Given the description of an element on the screen output the (x, y) to click on. 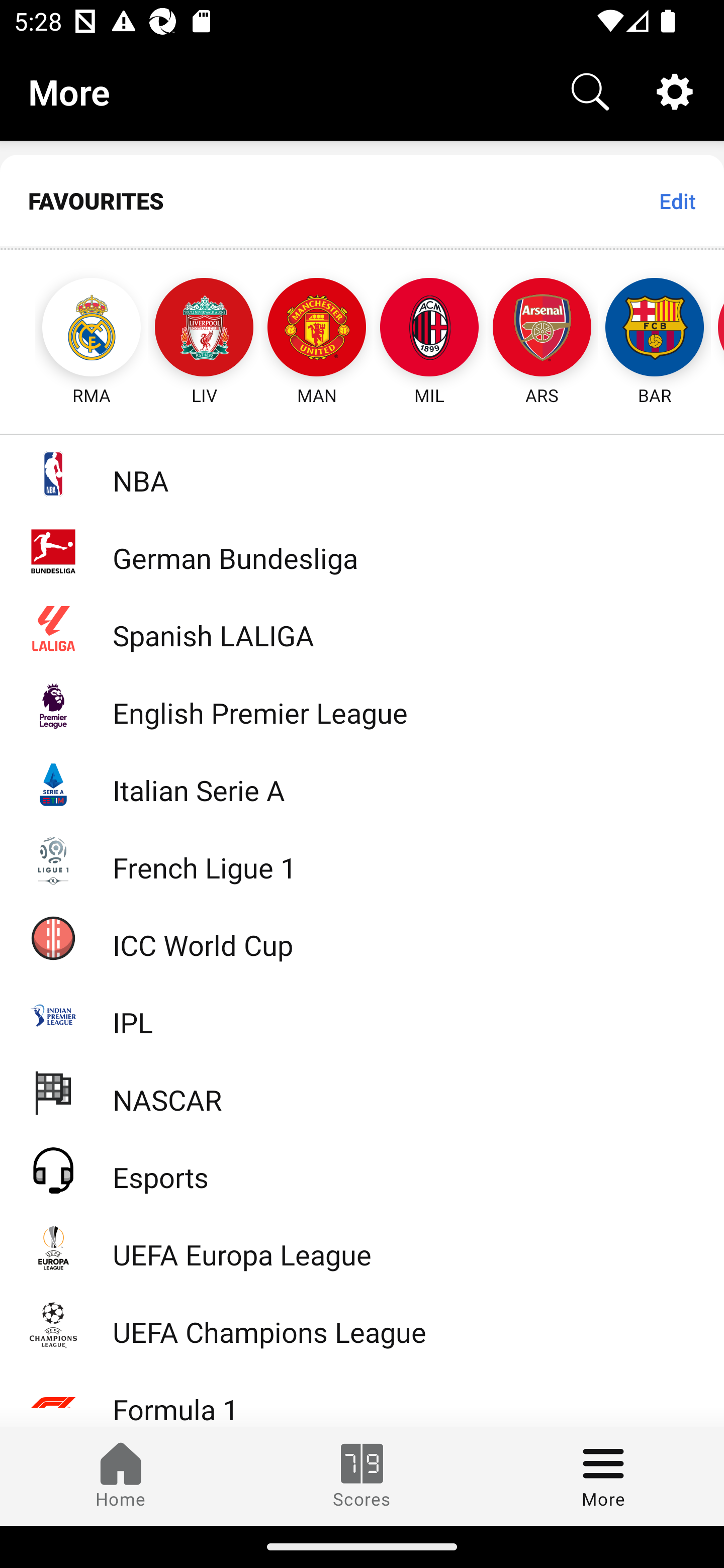
Search (590, 90)
Settings (674, 90)
Edit (676, 200)
RMA Real Madrid (73, 328)
LIV Liverpool (203, 328)
MAN Manchester United (316, 328)
MIL AC Milan (428, 328)
ARS Arsenal (541, 328)
BAR Barcelona (654, 328)
NBA (362, 473)
German Bundesliga (362, 550)
Spanish LALIGA (362, 627)
English Premier League (362, 705)
Italian Serie A (362, 782)
French Ligue 1 (362, 859)
ICC World Cup (362, 937)
IPL (362, 1014)
NASCAR (362, 1091)
Esports (362, 1169)
UEFA Europa League (362, 1246)
UEFA Champions League (362, 1324)
Formula 1 (362, 1395)
Home (120, 1475)
Scores (361, 1475)
